Given the description of an element on the screen output the (x, y) to click on. 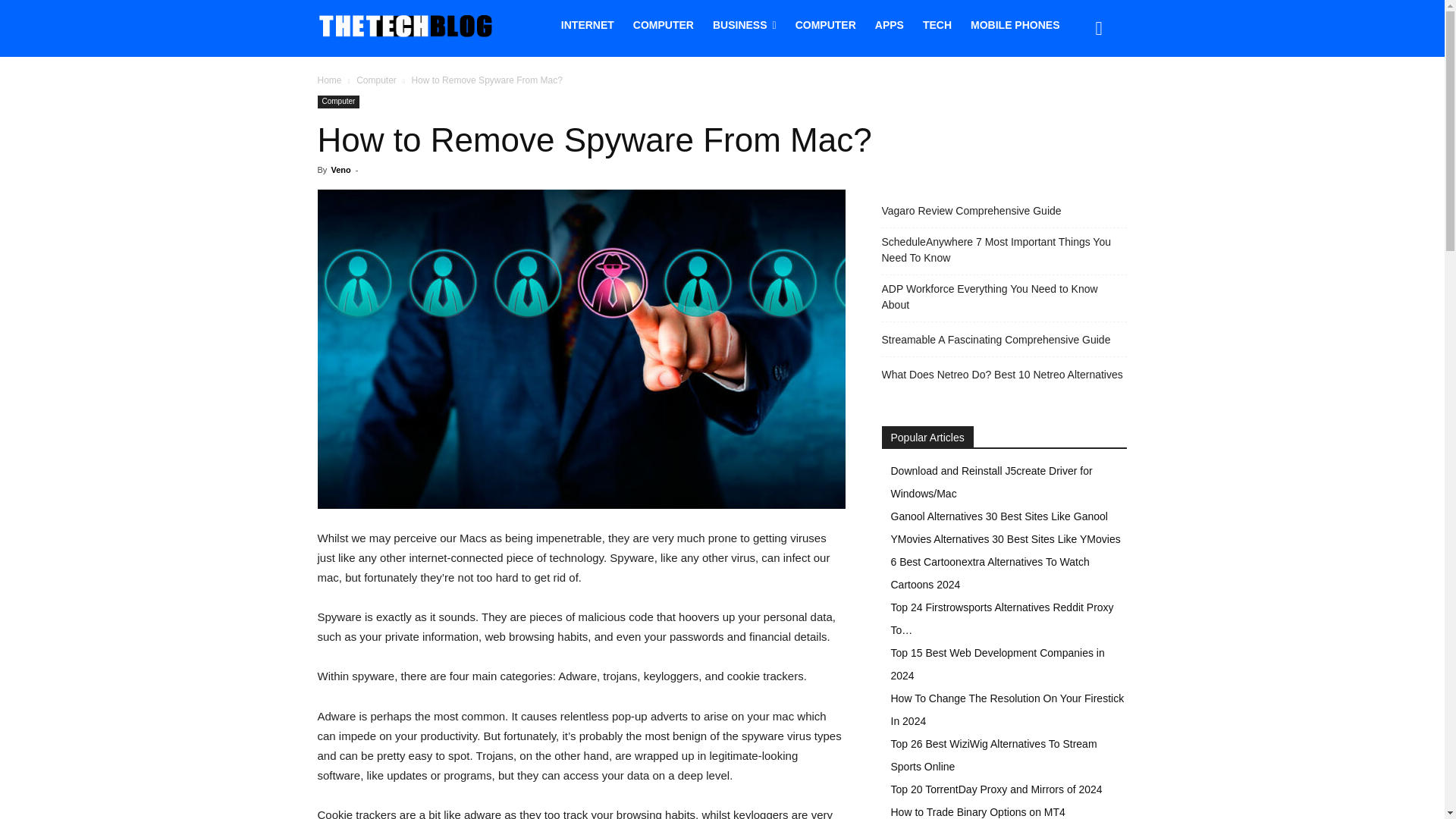
Computer (338, 101)
APPS (889, 24)
TECH (937, 24)
INTERNET (587, 24)
MOBILE PHONES (1014, 24)
View all posts in Computer (376, 80)
COMPUTER (663, 24)
COMPUTER (825, 24)
BUSINESS (744, 24)
Home (328, 80)
Veno (340, 169)
Computer (376, 80)
